Given the description of an element on the screen output the (x, y) to click on. 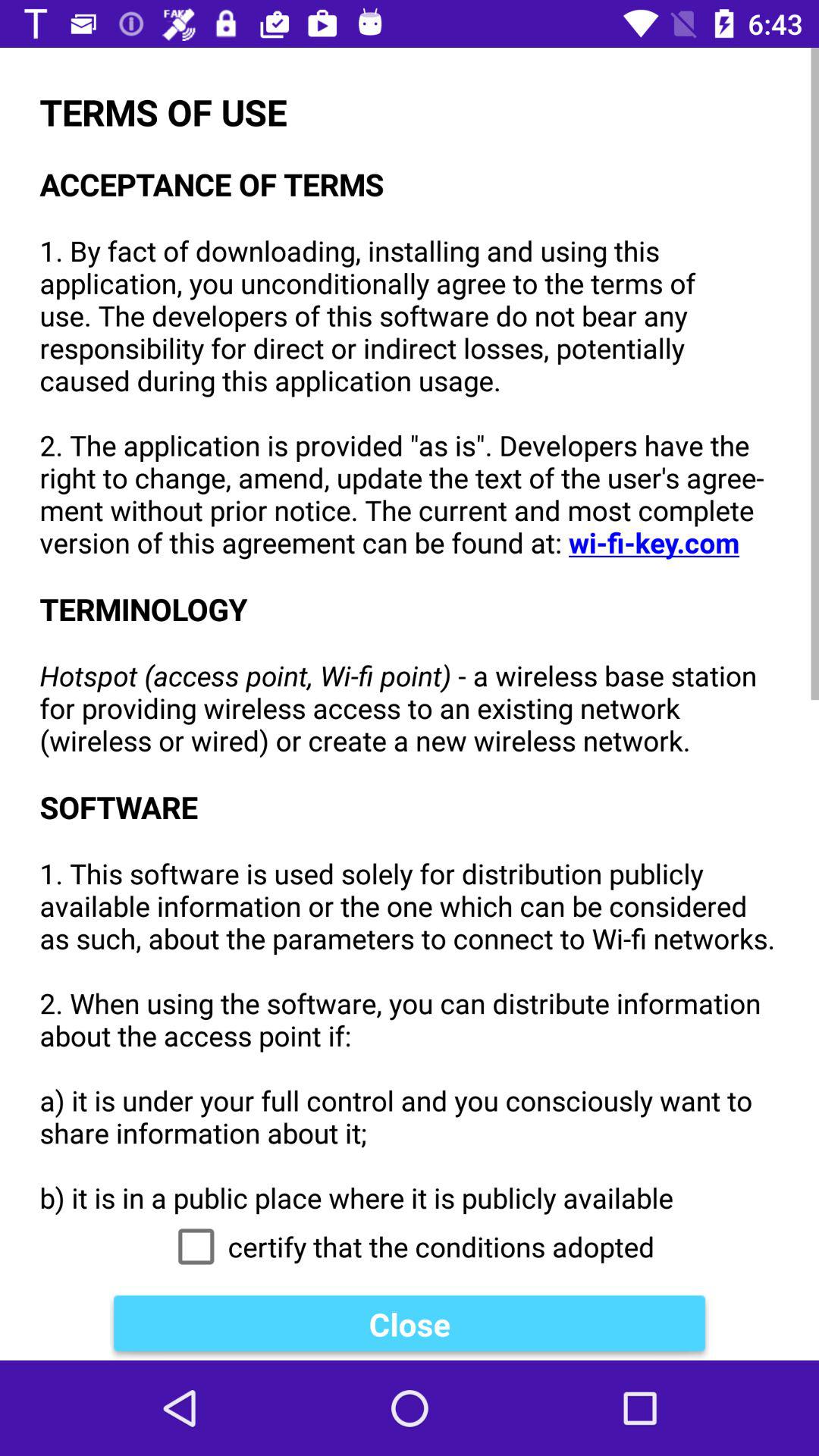
click terms of use item (409, 630)
